Given the description of an element on the screen output the (x, y) to click on. 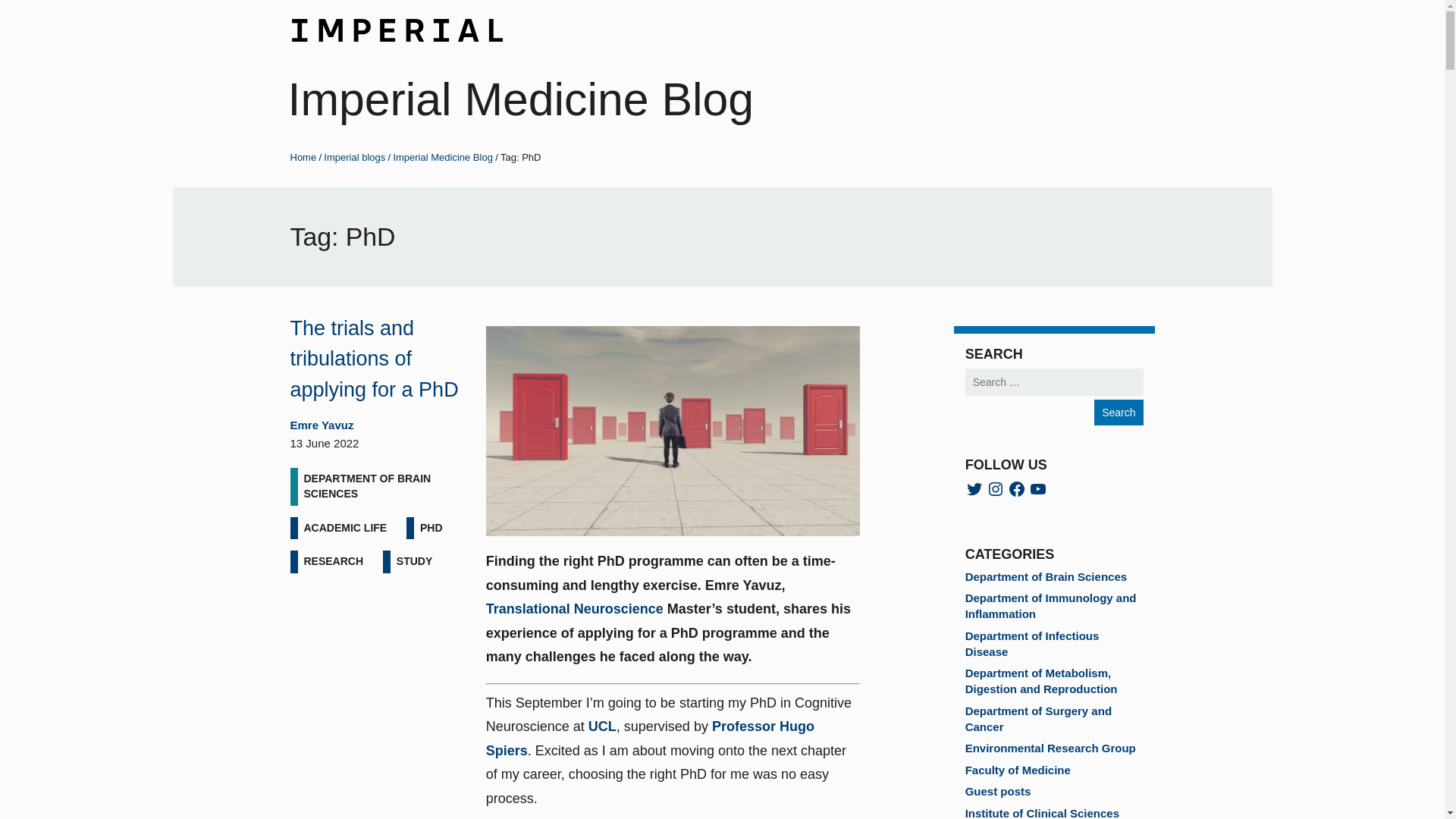
Imperial College London (395, 26)
Skip to blog sidebar (64, 1)
Skip to main content (66, 1)
Home (302, 156)
STUDY (414, 561)
RESEARCH (333, 561)
Emre Yavuz (321, 424)
UCL (601, 726)
View all posts in Research (333, 561)
View all posts in Department of Brain Sciences (376, 486)
Professor Hugo Spiers (649, 738)
View all posts in PhD (430, 527)
Imperial Medicine Blog (443, 156)
Imperial Medicine Blog (521, 99)
View accessibility support page (99, 1)
